Given the description of an element on the screen output the (x, y) to click on. 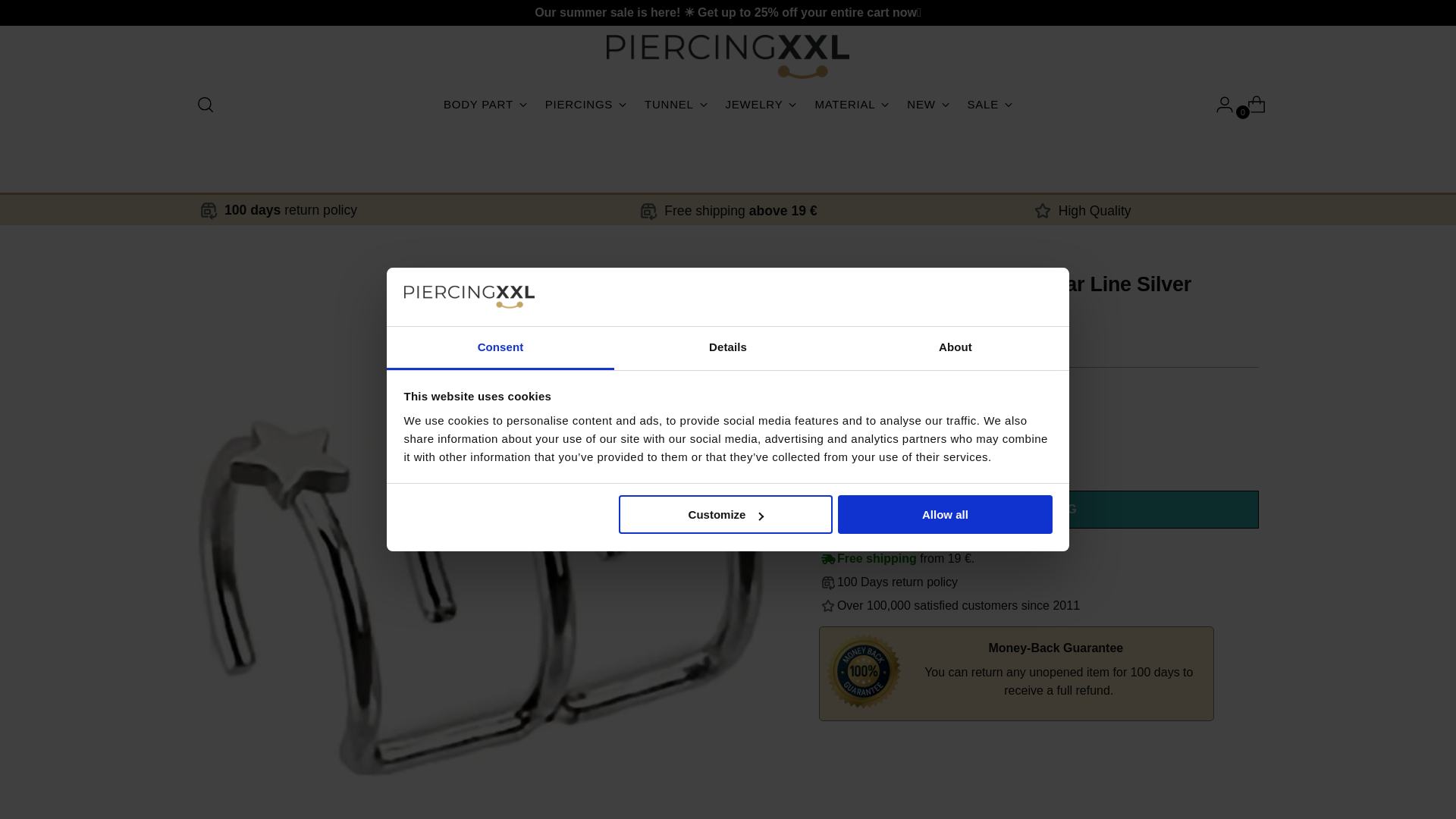
Details (727, 348)
Consent (500, 348)
1 (727, 104)
About (849, 453)
